Given the description of an element on the screen output the (x, y) to click on. 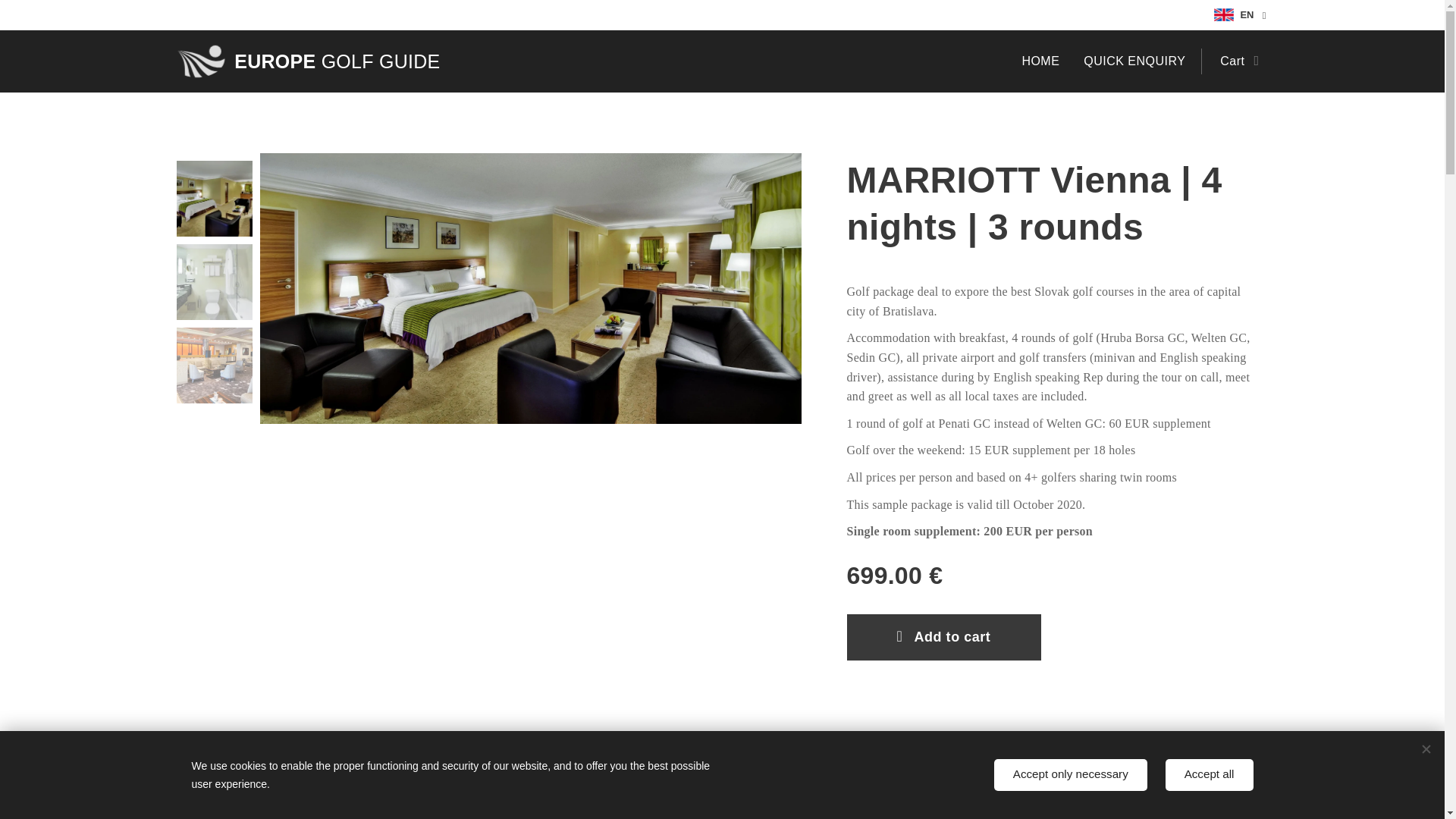
QUICK ENQUIRY (1133, 61)
Cart (1234, 61)
EUROPE GOLF GUIDE (310, 61)
HOME (1044, 61)
Accept only necessary (1070, 774)
Accept all (1209, 774)
Add to cart (943, 637)
